Given the description of an element on the screen output the (x, y) to click on. 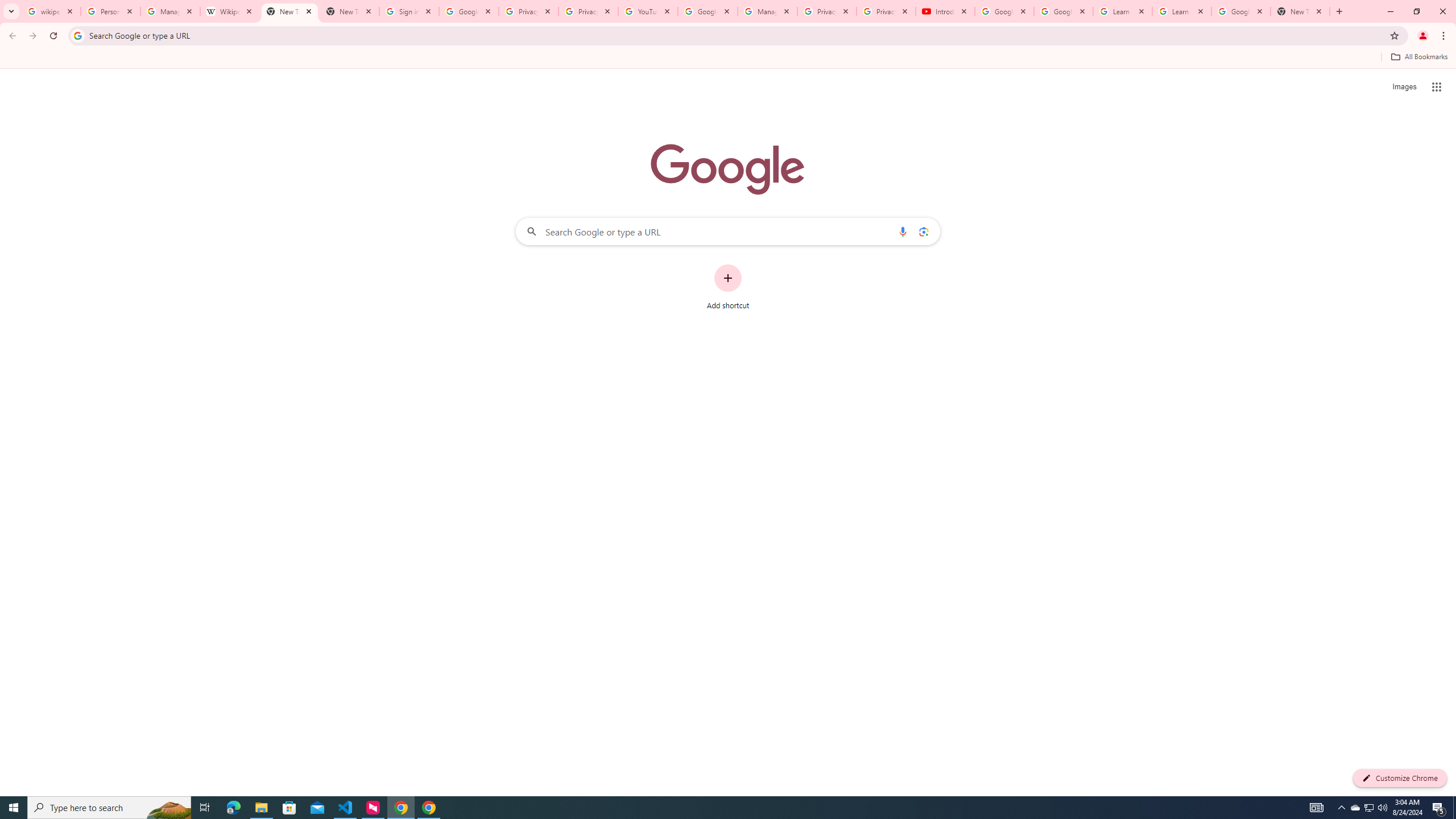
Introduction | Google Privacy Policy - YouTube (944, 11)
Google Account (1241, 11)
Google Account Help (707, 11)
New Tab (1300, 11)
Google Drive: Sign-in (468, 11)
